Given the description of an element on the screen output the (x, y) to click on. 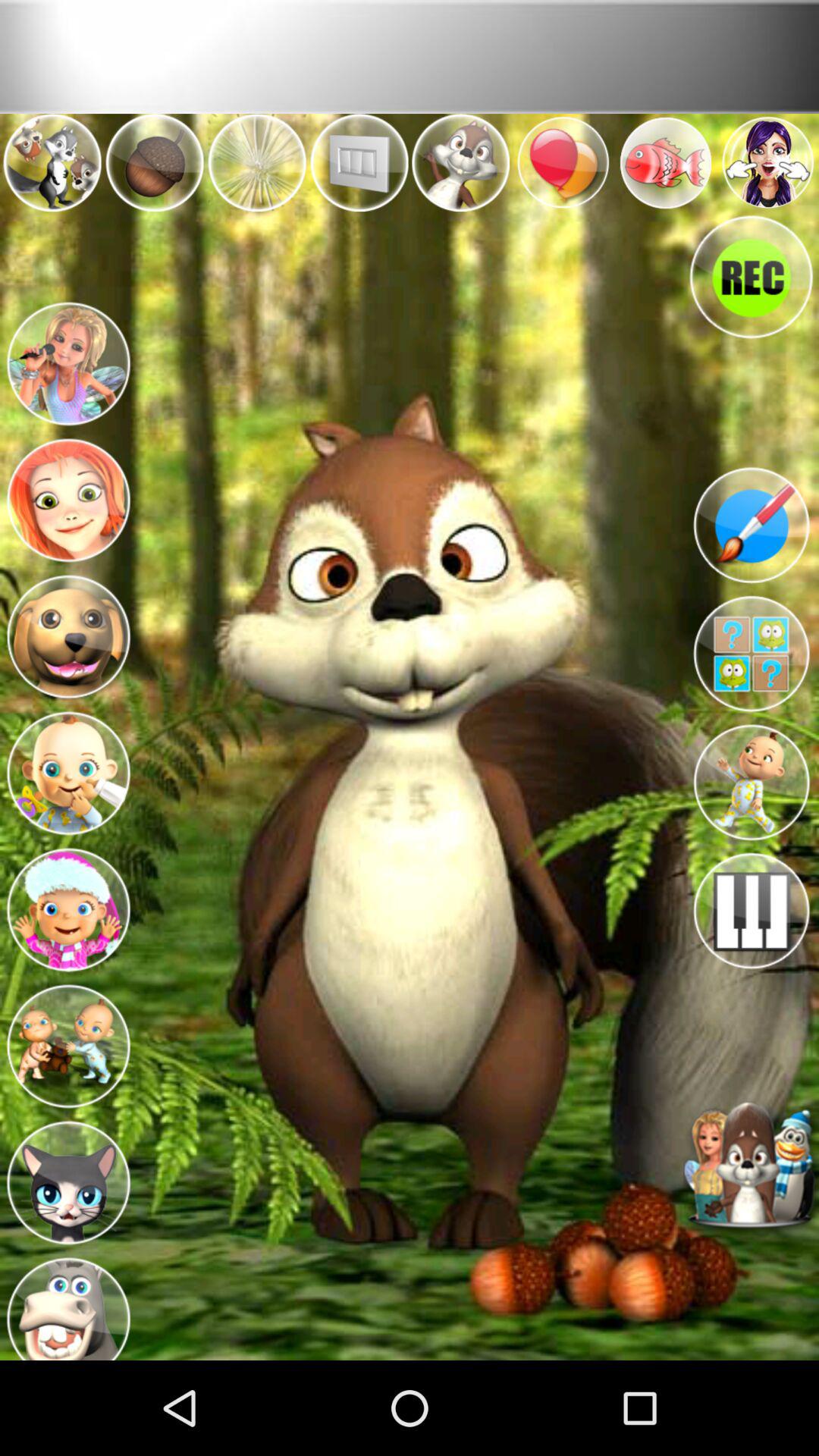
select animal (68, 632)
